Given the description of an element on the screen output the (x, y) to click on. 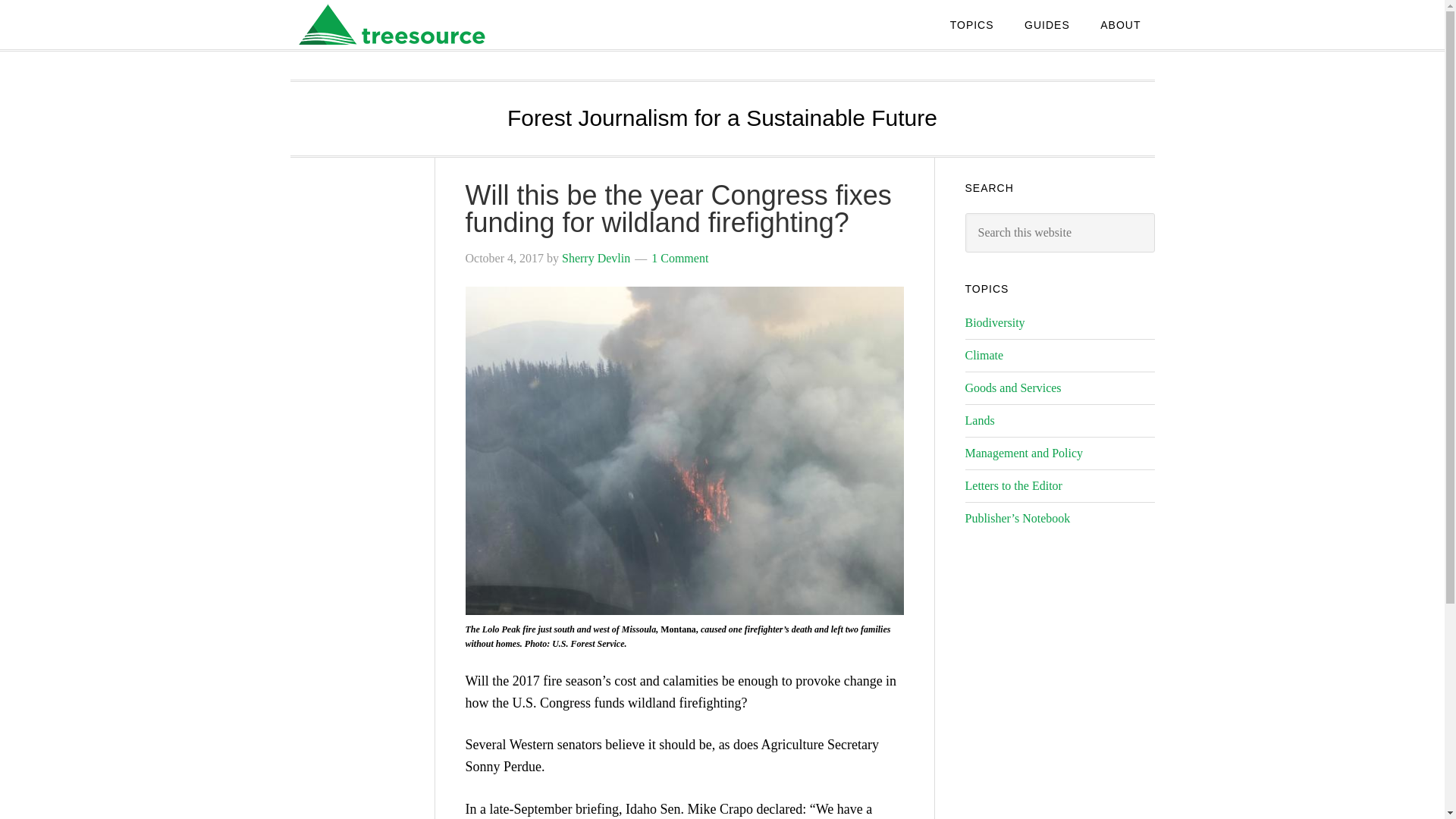
1 Comment (678, 257)
ABOUT (1120, 24)
Climate (983, 354)
Lands (978, 420)
Goods and Services (1012, 387)
Letters to the Editor (1012, 485)
TOPICS (971, 24)
Management and Policy (1023, 452)
GUIDES (1046, 24)
Sherry Devlin (596, 257)
Biodiversity (994, 322)
